Given the description of an element on the screen output the (x, y) to click on. 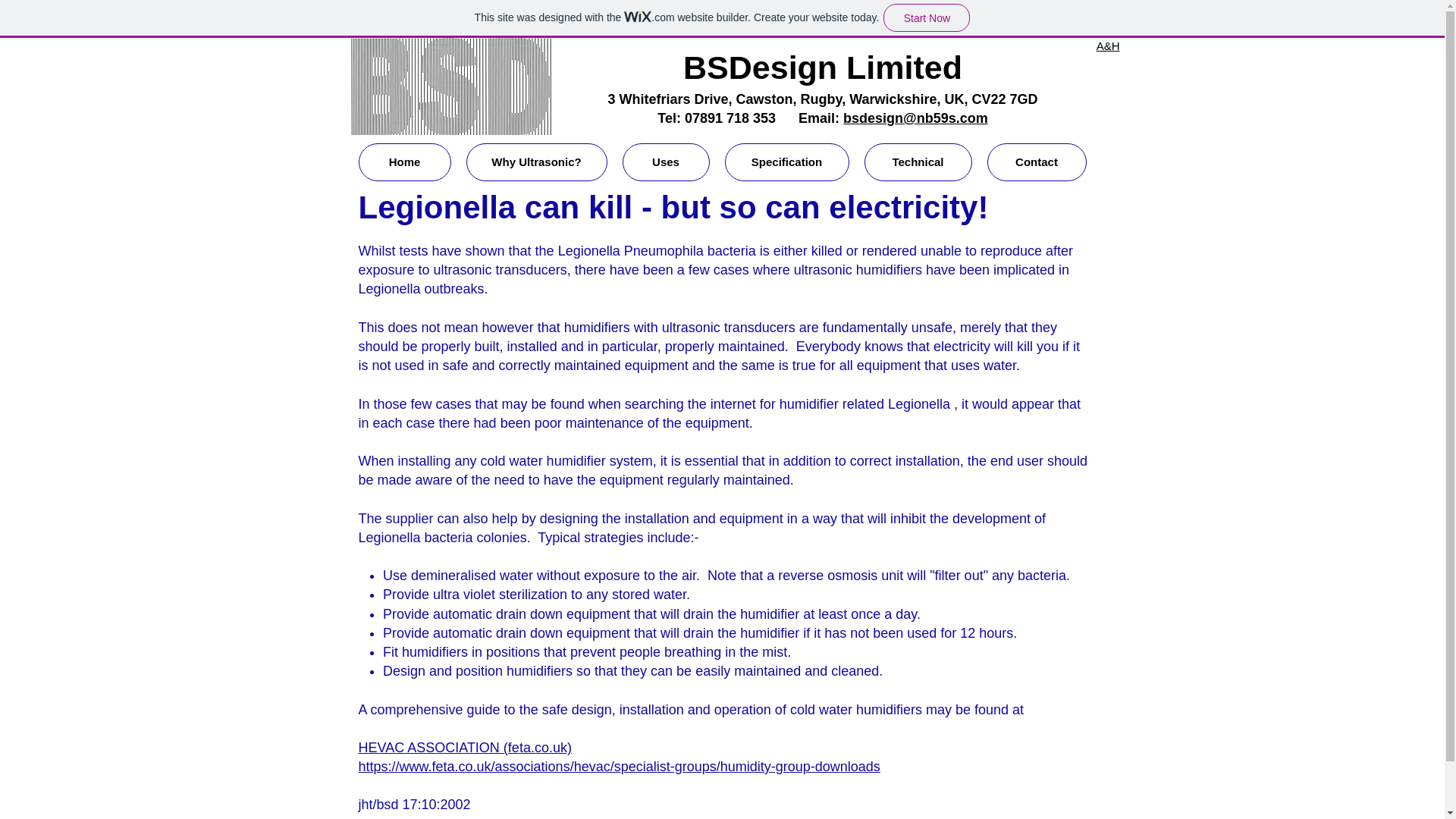
Technical (918, 161)
Home (403, 161)
Why Ultrasonic? (536, 161)
BSD logo v4.jpg (450, 86)
Uses (665, 161)
Contact (1036, 161)
Specification (786, 161)
